Given the description of an element on the screen output the (x, y) to click on. 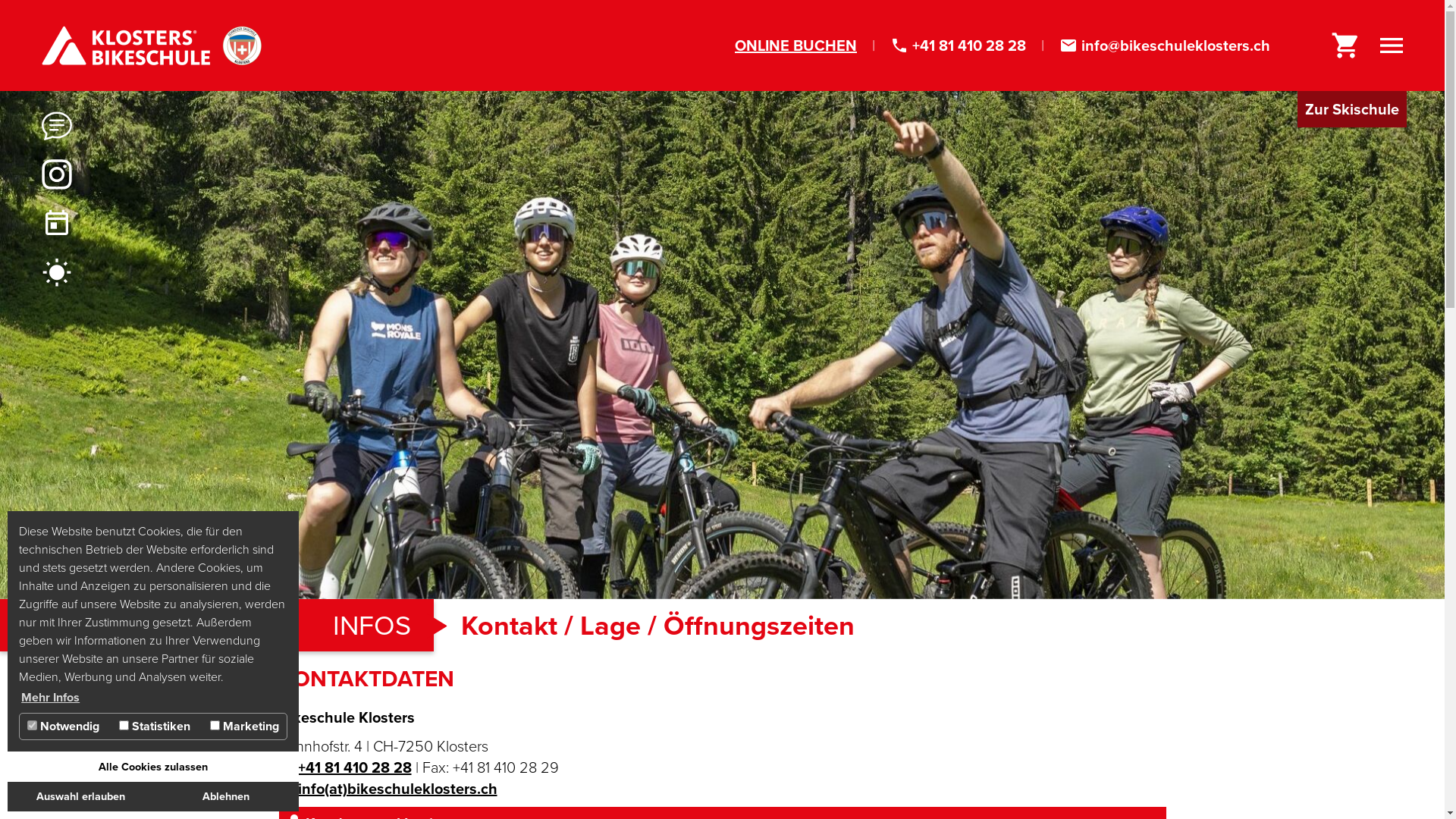
+41 81 410 28 28 Element type: text (969, 45)
Ablehnen Element type: text (225, 796)
info@bikeschuleklosters.ch Element type: text (1175, 45)
info(at)bikeschuleklosters.ch Element type: text (396, 788)
Zur Skischule Element type: text (1351, 109)
+41 81 410 28 28 Element type: text (354, 767)
Alle Cookies zulassen Element type: text (152, 766)
Auswahl erlauben Element type: text (80, 796)
ONLINE BUCHEN Element type: text (795, 45)
Mehr Infos Element type: text (49, 697)
